Given the description of an element on the screen output the (x, y) to click on. 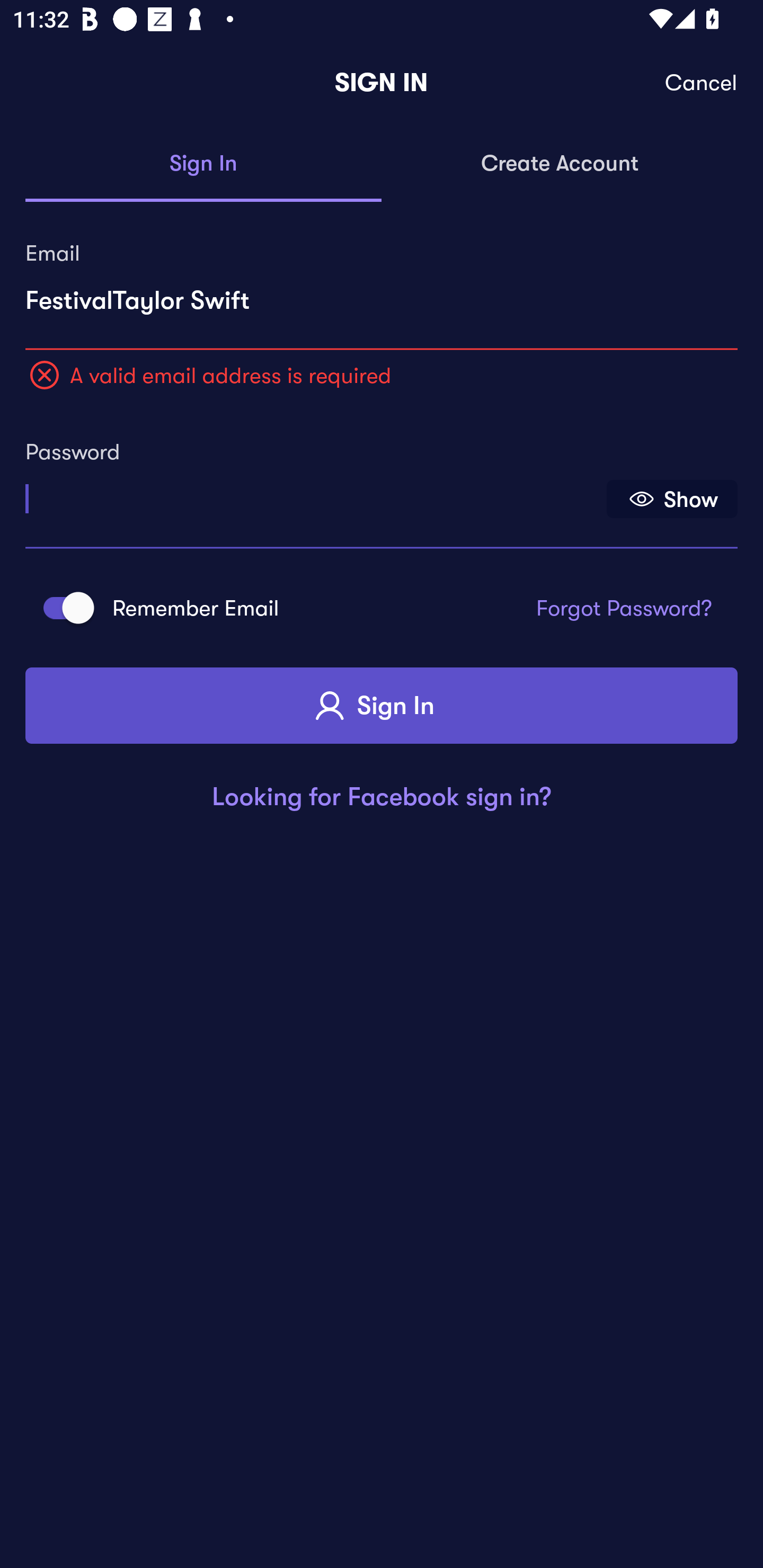
Cancel (701, 82)
Sign In (203, 164)
Create Account (559, 164)
Password (314, 493)
Show Password Show (671, 498)
Remember Email (62, 607)
Sign In (381, 705)
